Given the description of an element on the screen output the (x, y) to click on. 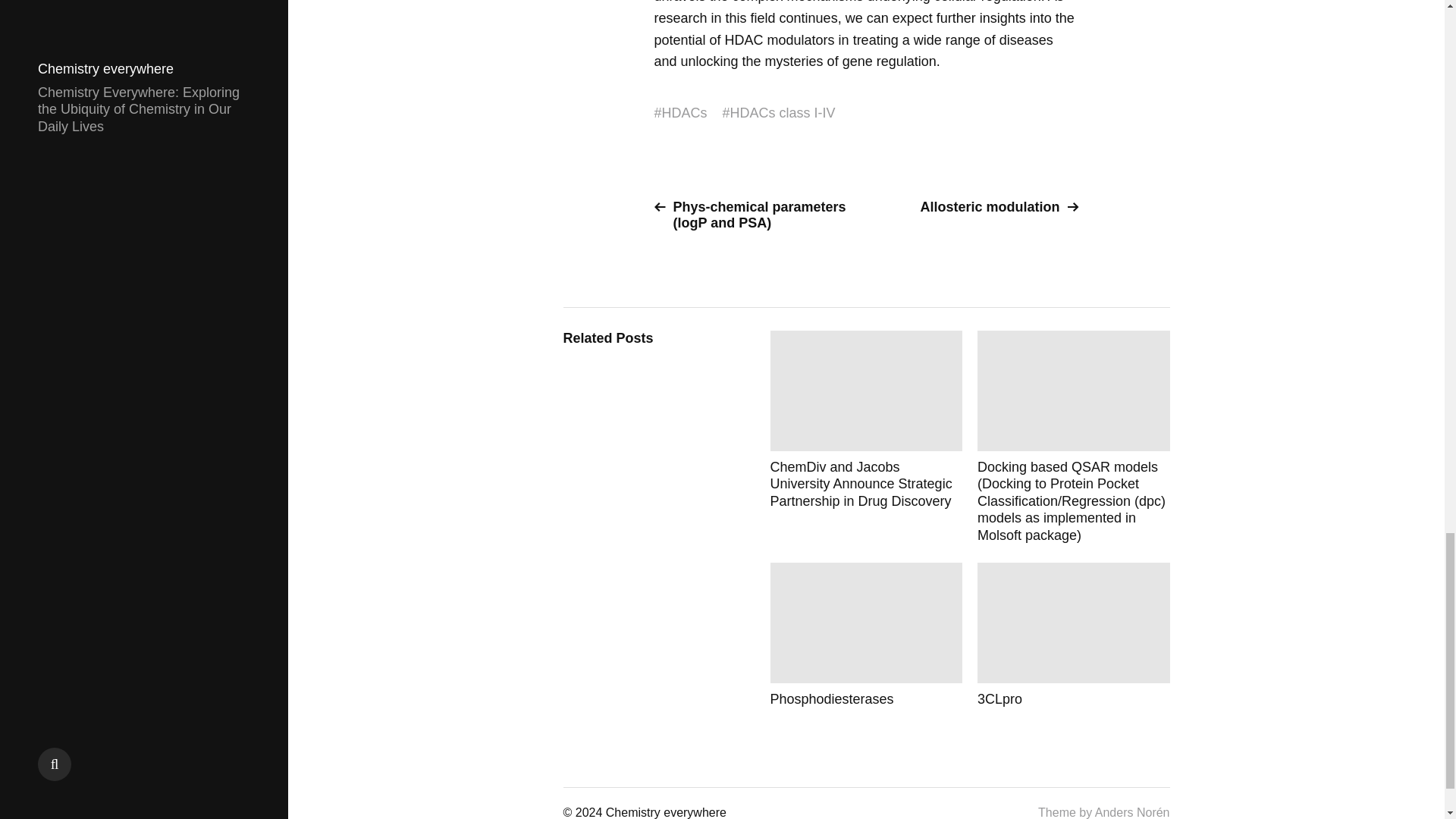
3CLpro (1073, 634)
HDACs (684, 113)
HDACs class I-IV (782, 113)
Allosteric modulation (977, 207)
Phosphodiesterases (866, 634)
